Given the description of an element on the screen output the (x, y) to click on. 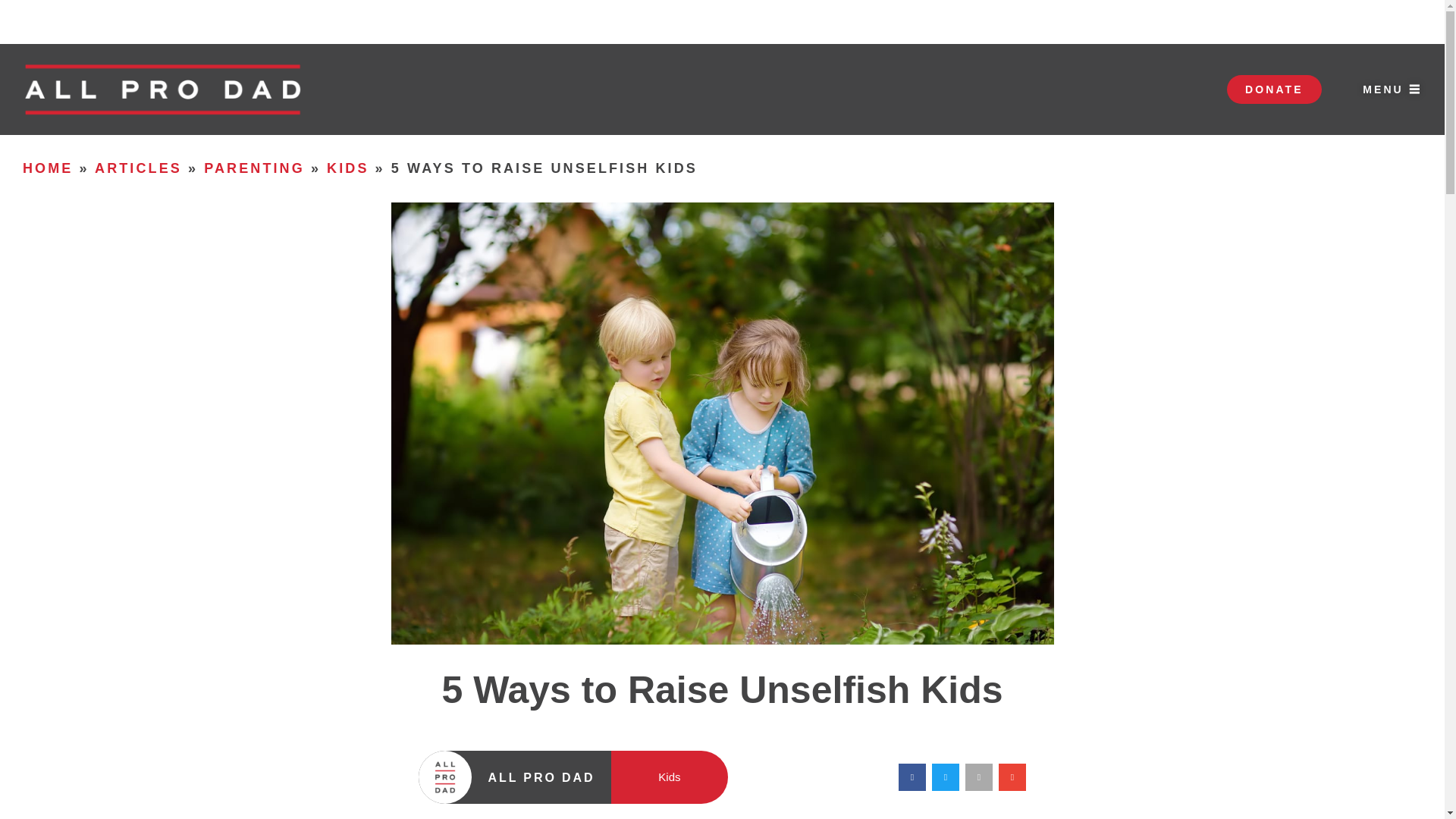
PARENTING (253, 168)
ALL PRO DAD (541, 776)
Kids (668, 776)
DONATE (1274, 89)
ARTICLES (138, 168)
KIDS (347, 168)
HOME (47, 168)
